Given the description of an element on the screen output the (x, y) to click on. 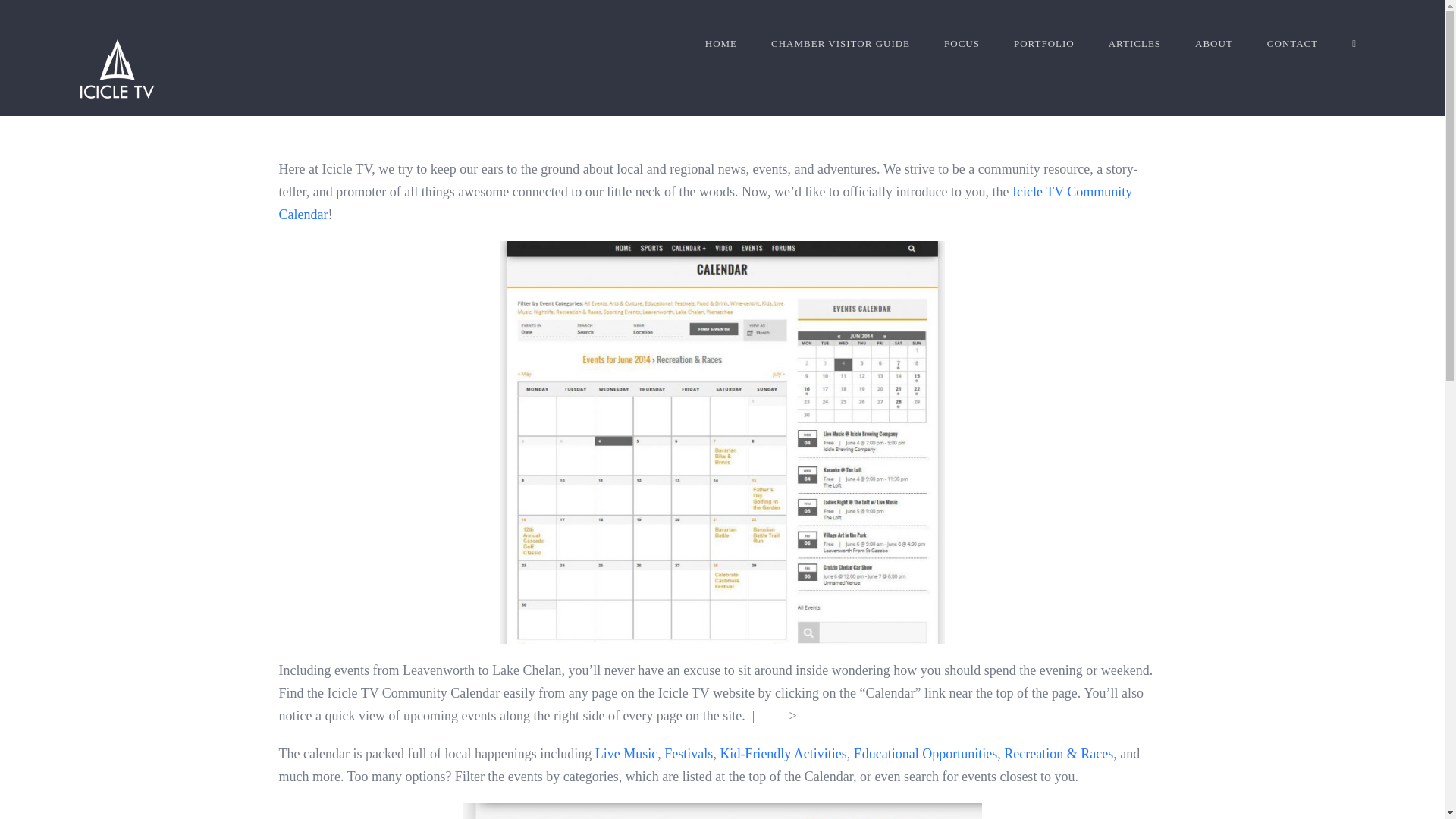
Live Music (626, 753)
Kid-Friendly Activities (782, 753)
PORTFOLIO (1043, 42)
CHAMBER VISITOR GUIDE (840, 42)
Icicle TV Community Calendar (705, 202)
Festivals (688, 753)
Educational Opportunities (925, 753)
